Given the description of an element on the screen output the (x, y) to click on. 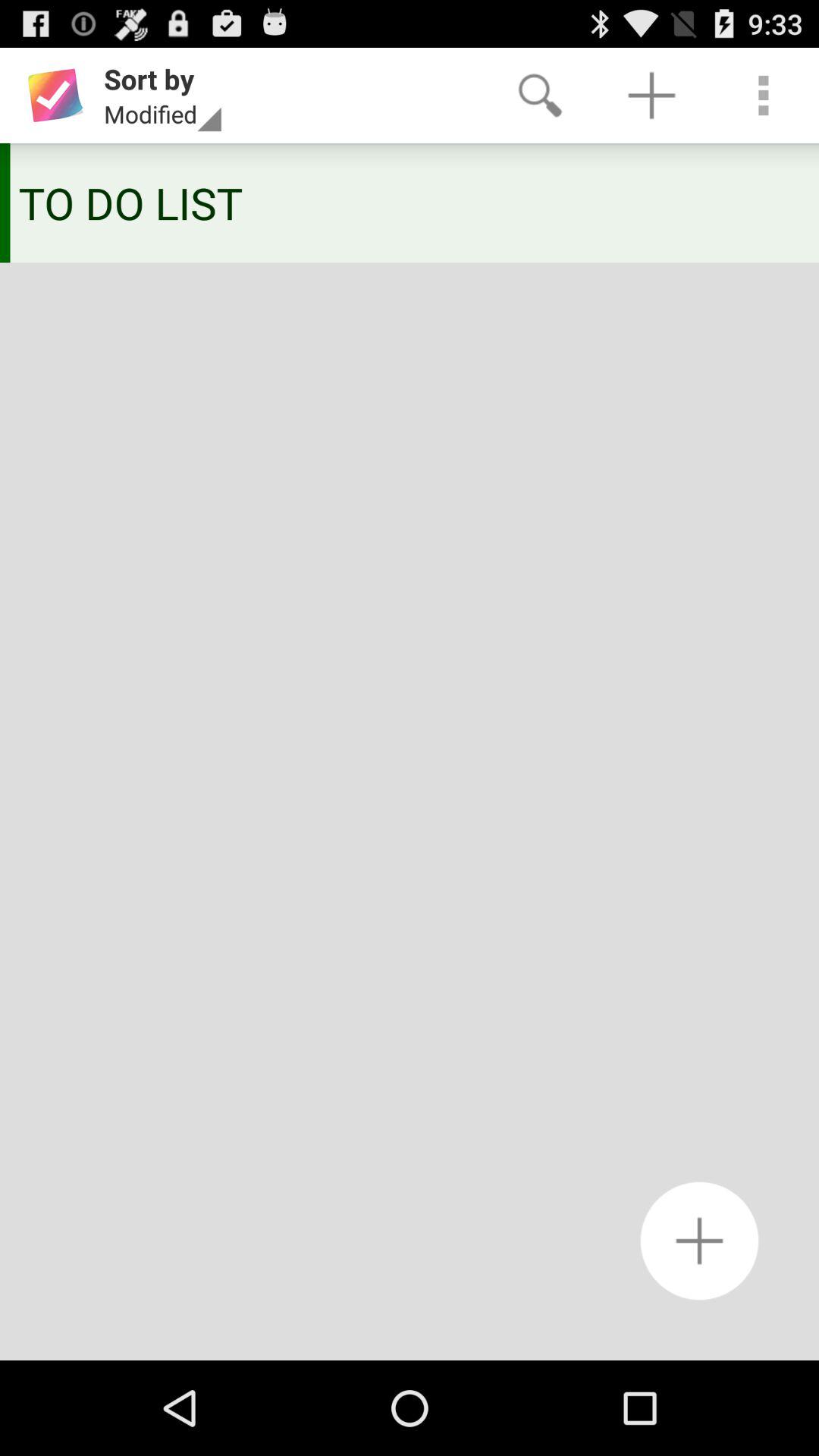
select icon below to do list app (699, 1240)
